Given the description of an element on the screen output the (x, y) to click on. 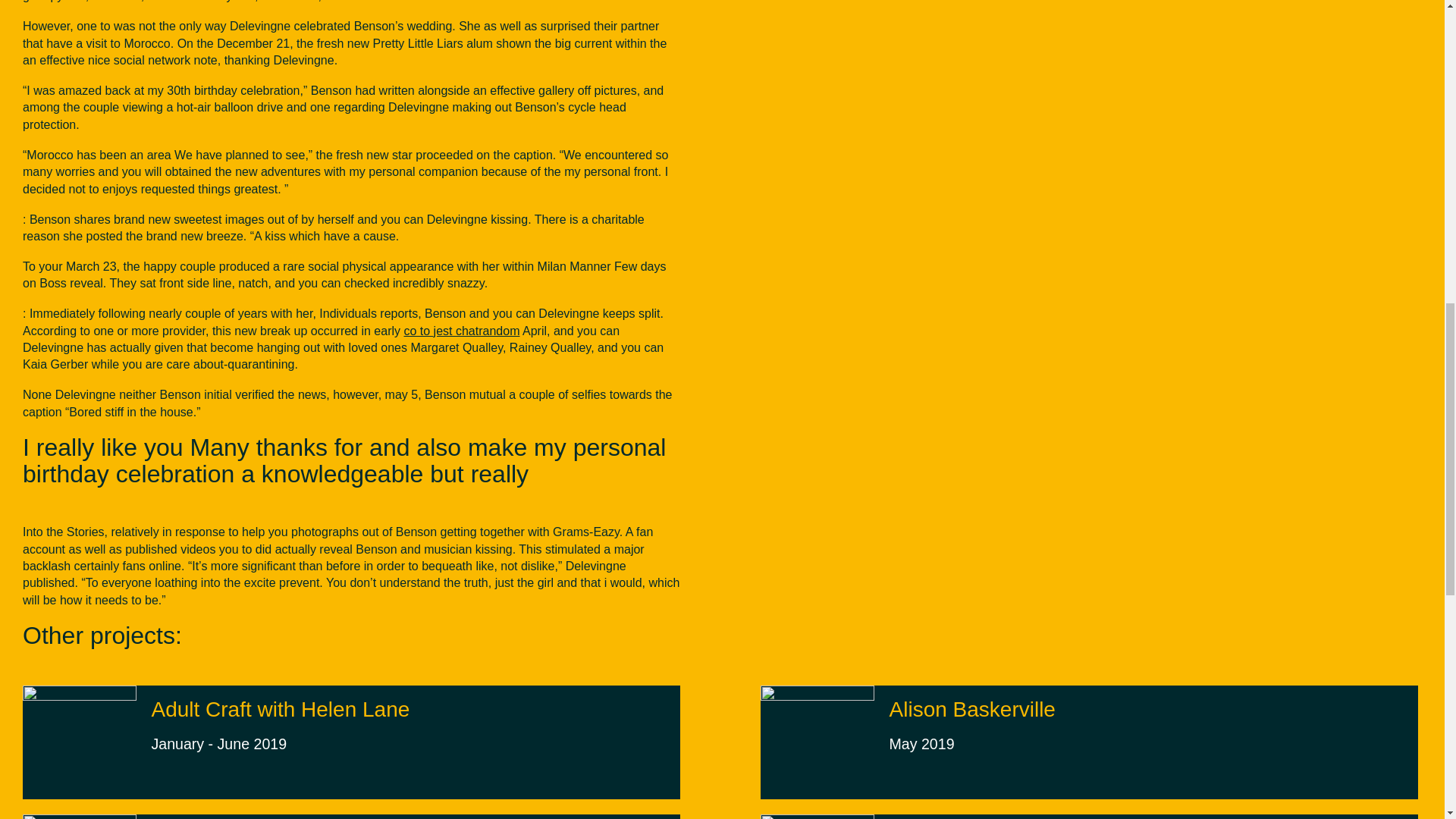
co to jest chatrandom (972, 726)
